Given the description of an element on the screen output the (x, y) to click on. 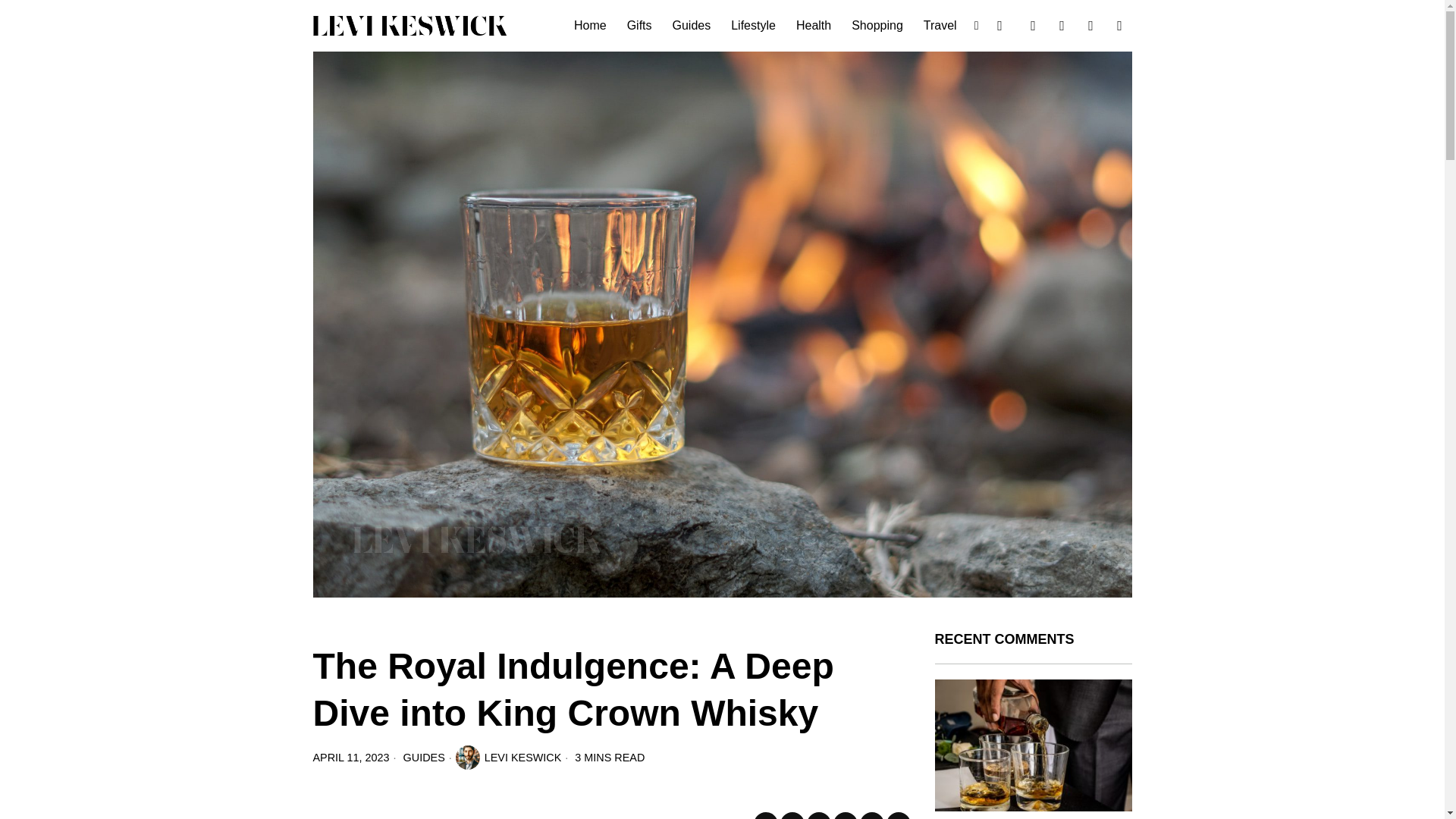
Gifts (640, 25)
Health (815, 25)
Home (590, 25)
Lifestyle (754, 25)
11 Apr, 2023 21:17:55 (350, 757)
Travel (941, 25)
Guides (692, 25)
Shopping (878, 25)
GUIDES (424, 757)
LEVI KESWICK (508, 757)
